Given the description of an element on the screen output the (x, y) to click on. 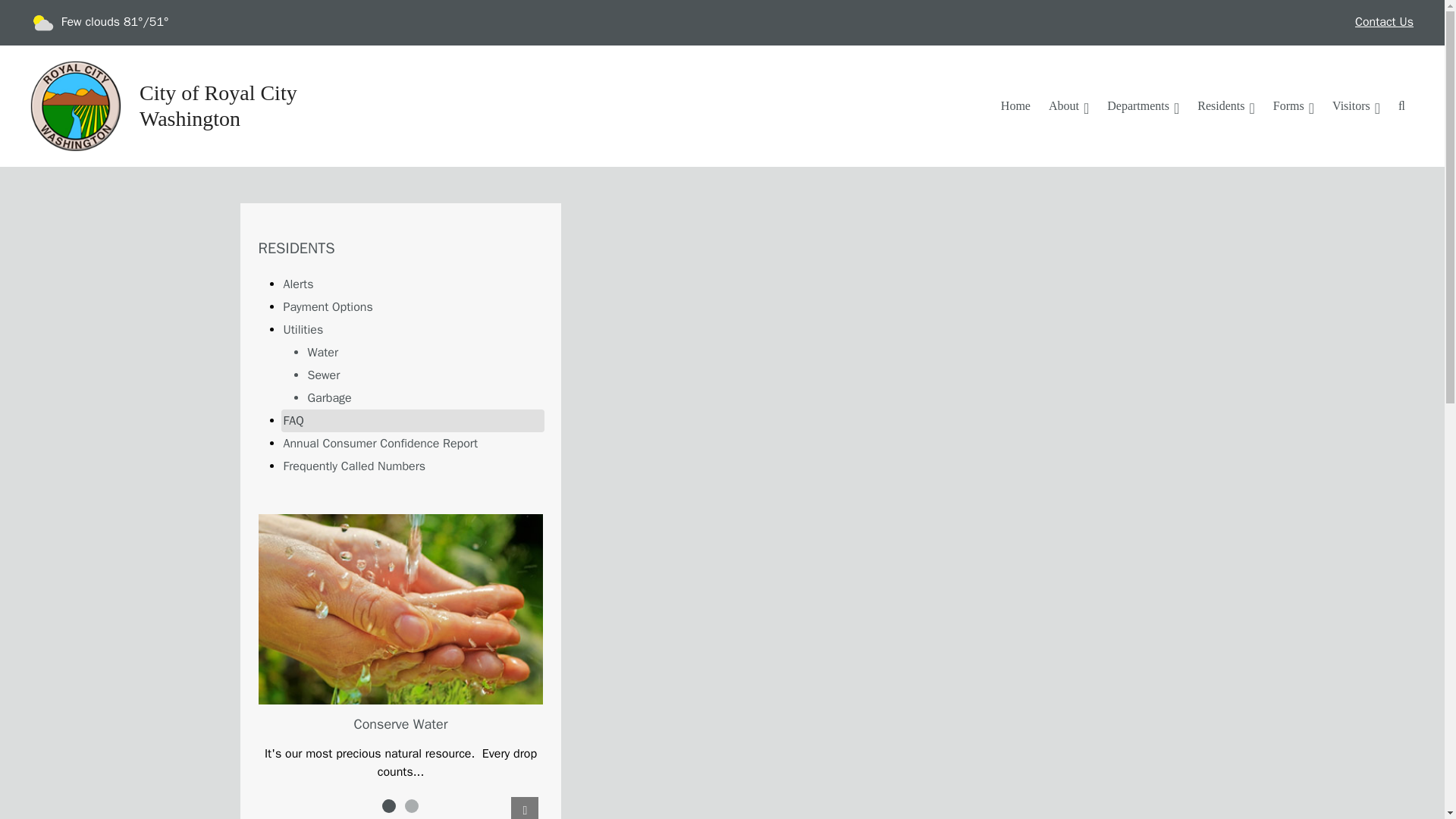
Departments (1142, 105)
Utilities (412, 329)
Annual Consumer Confidence Report (412, 443)
Contact Us (1383, 22)
Frequently Called Numbers (412, 466)
Garbage (424, 397)
Payment Options (412, 306)
About (1068, 105)
Visitors (1356, 105)
Residents (1225, 105)
